Given the description of an element on the screen output the (x, y) to click on. 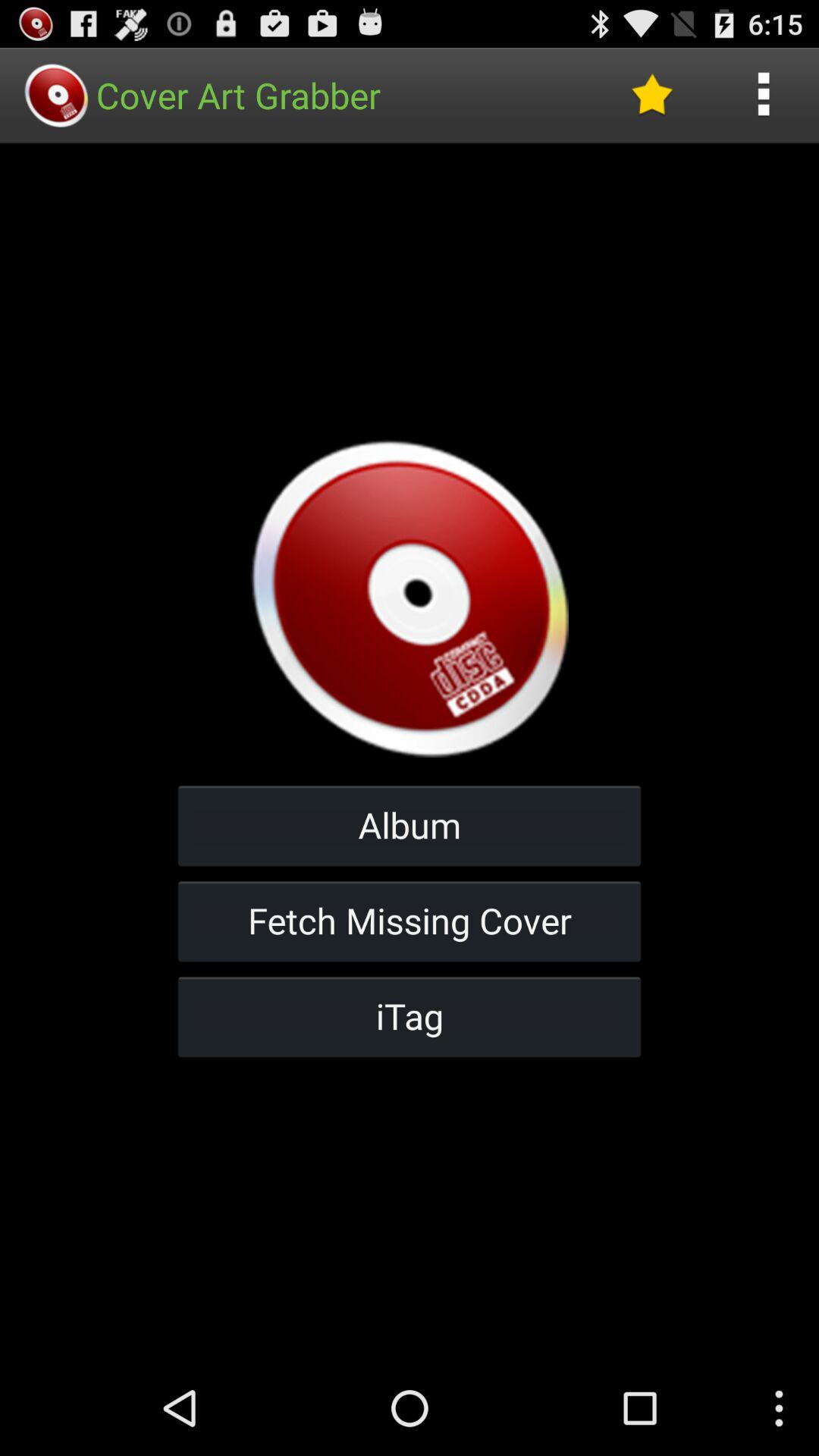
open the item at the bottom (409, 1016)
